Given the description of an element on the screen output the (x, y) to click on. 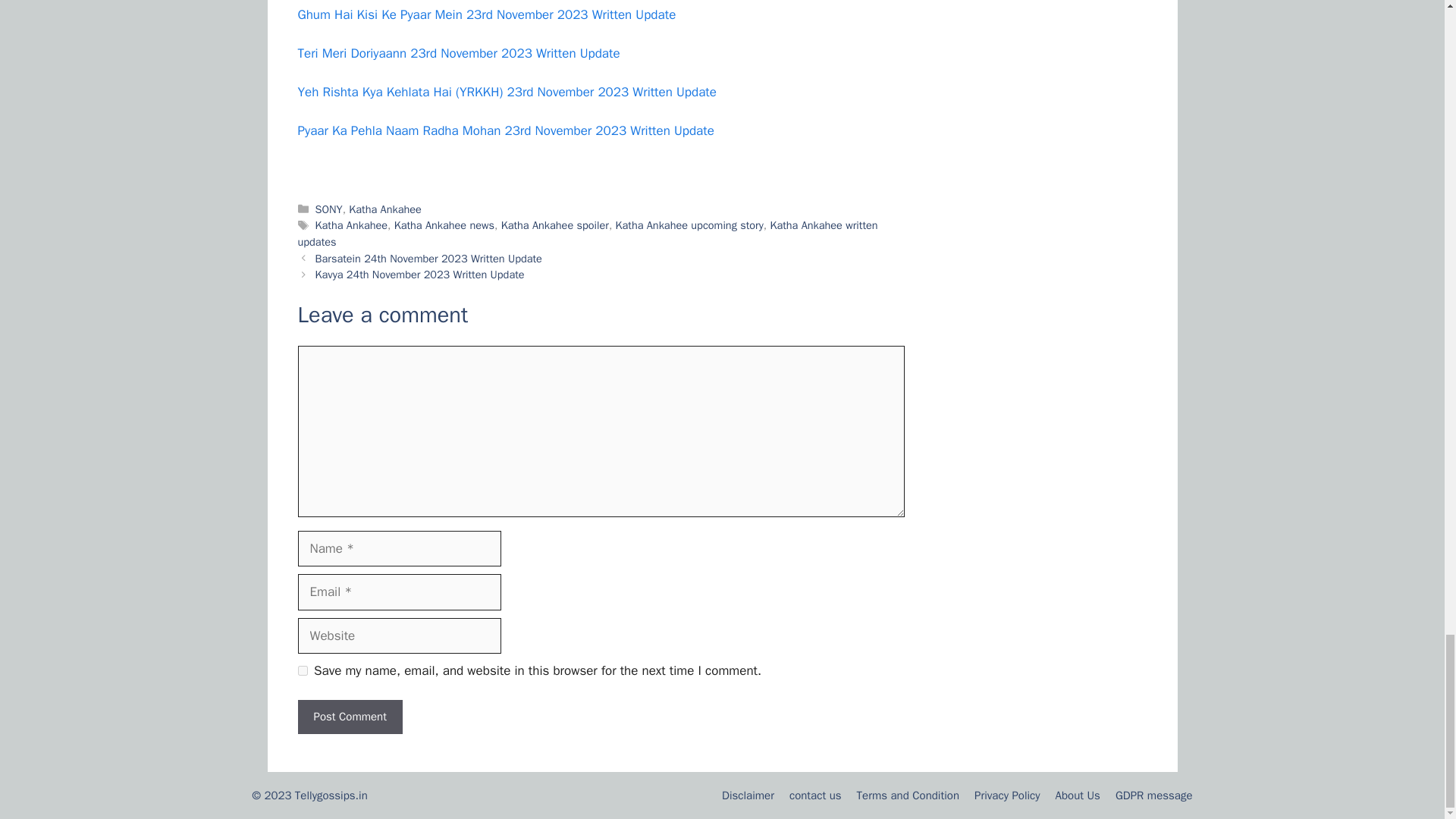
yes (302, 670)
Post Comment (349, 716)
